Given the description of an element on the screen output the (x, y) to click on. 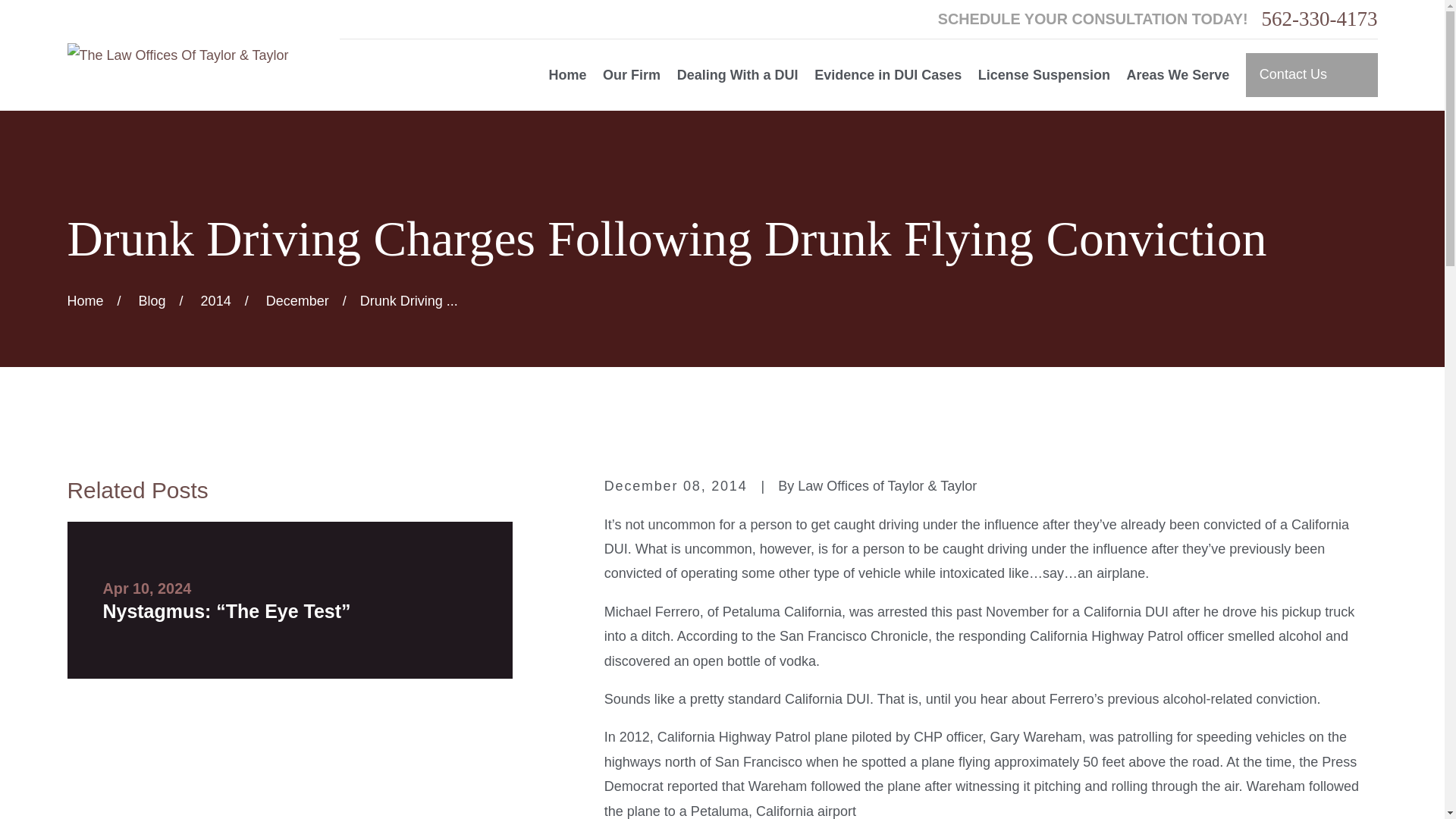
Evidence in DUI Cases (886, 75)
562-330-4173 (1319, 19)
Home (177, 55)
Go Home (84, 300)
Dealing With a DUI (737, 75)
Our Firm (631, 75)
